Given the description of an element on the screen output the (x, y) to click on. 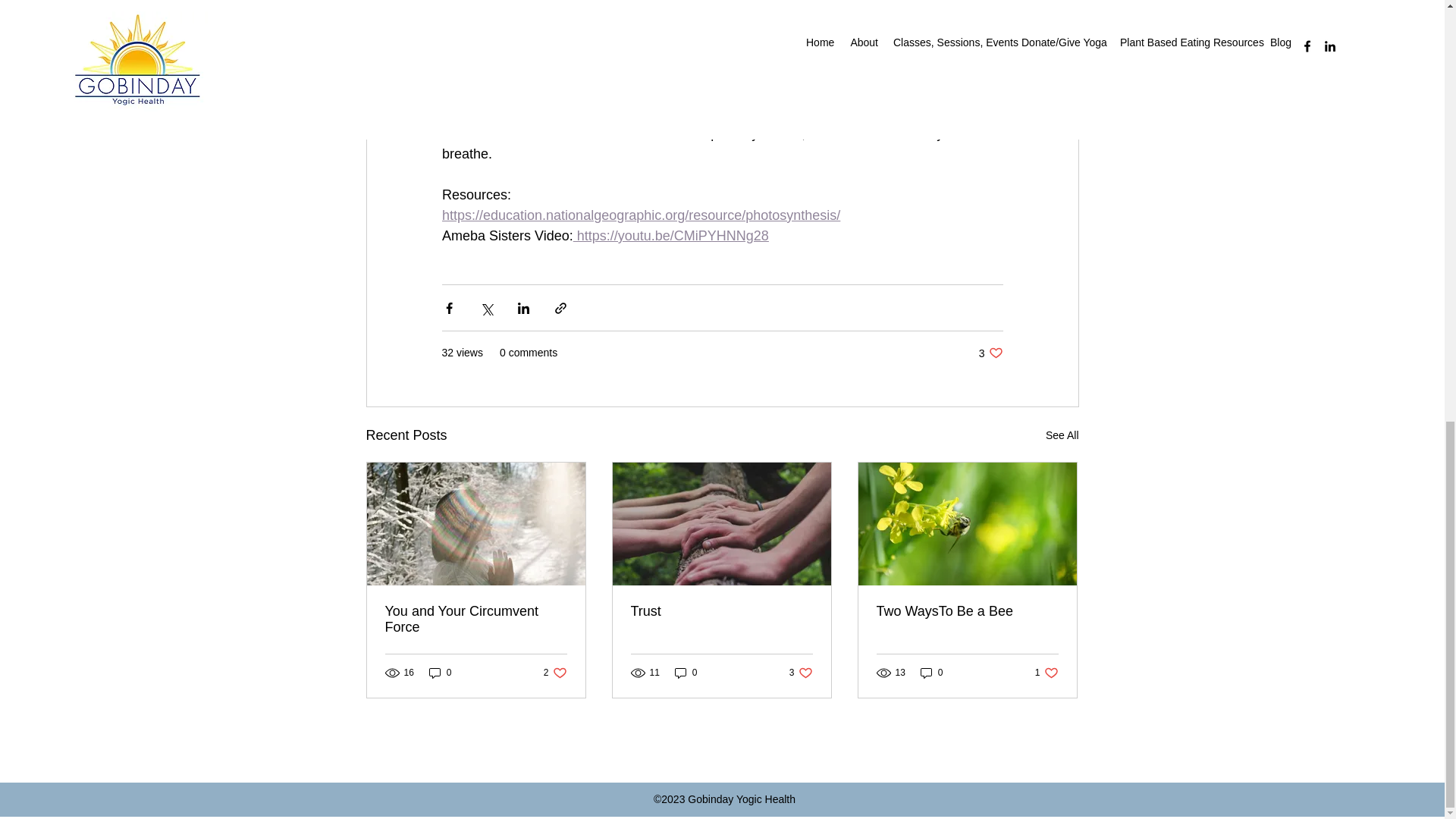
Two WaysTo Be a Bee (967, 611)
0 (931, 672)
See All (1061, 435)
Diana Beresford-Kroeger (852, 30)
You and Your Circumvent Force (800, 672)
0 (476, 619)
0 (990, 352)
